Given the description of an element on the screen output the (x, y) to click on. 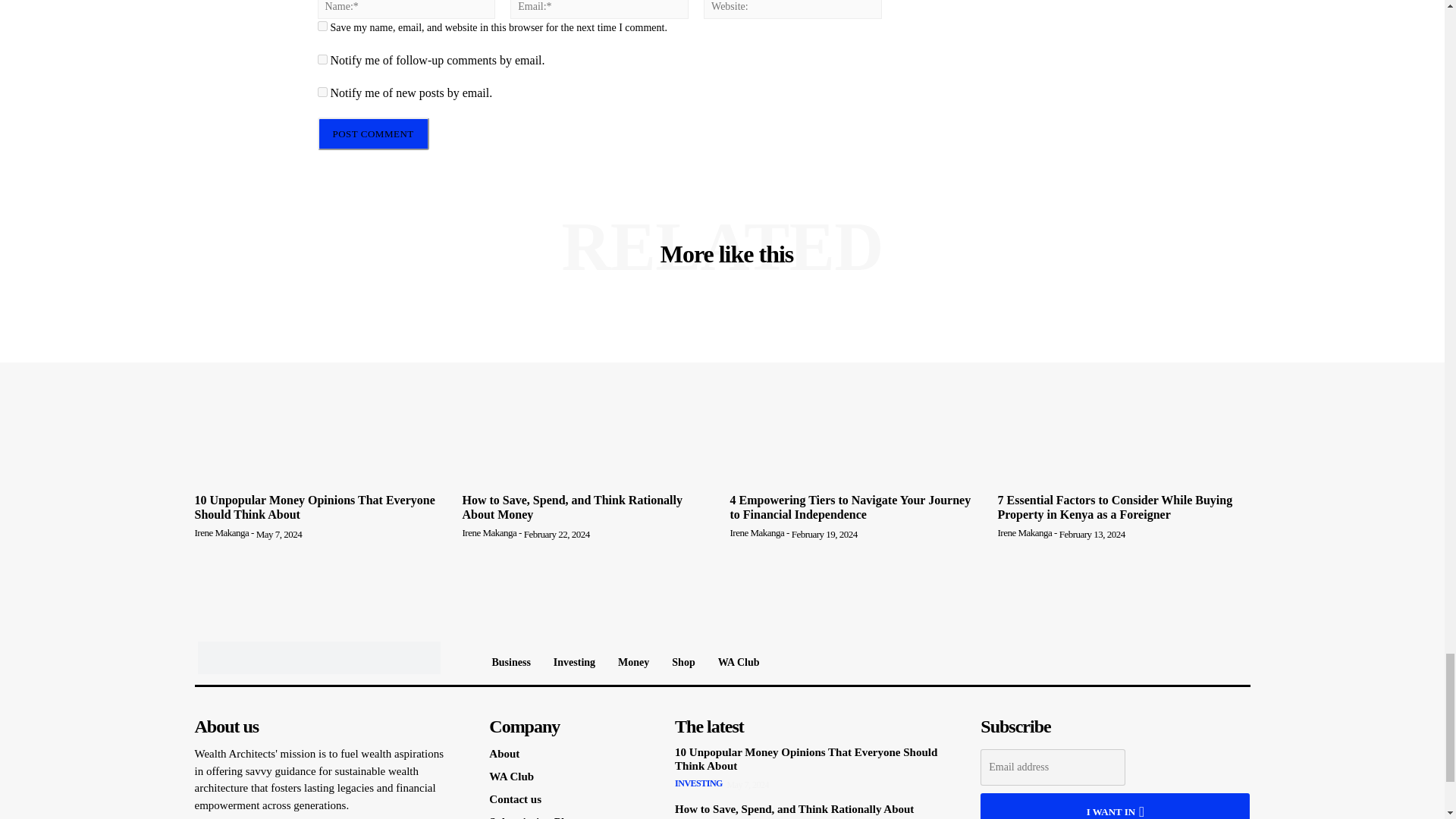
subscribe (321, 59)
yes (321, 26)
subscribe (321, 91)
Post Comment (372, 133)
